Given the description of an element on the screen output the (x, y) to click on. 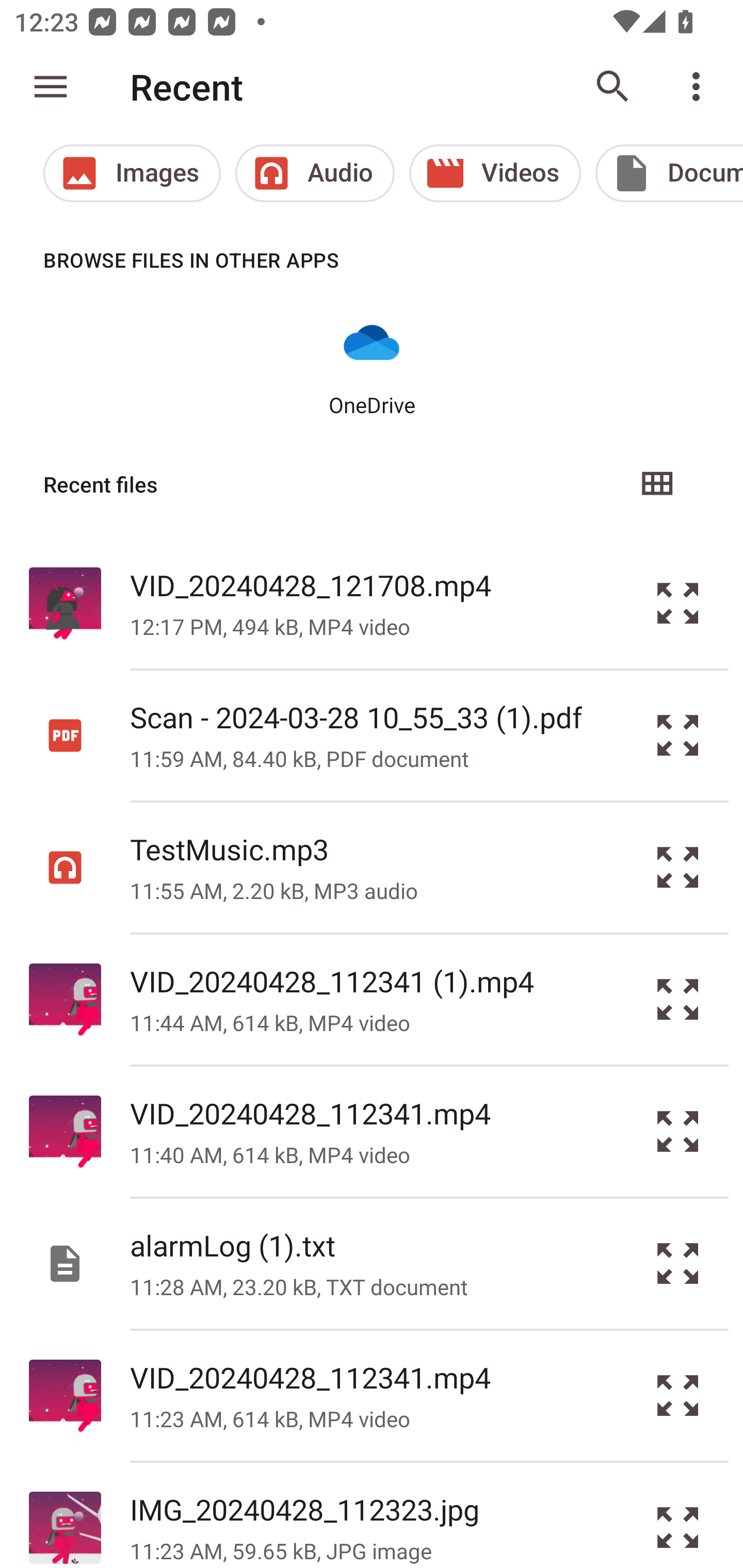
Show roots (50, 86)
Search (612, 86)
More options (699, 86)
Images (131, 173)
Audio (314, 173)
Videos (495, 173)
Documents (669, 173)
OneDrive (371, 365)
Grid view (655, 484)
Preview the file VID_20240428_121708.mp4 (677, 602)
Preview the file TestMusic.mp3 (677, 867)
Preview the file VID_20240428_112341 (1).mp4 (677, 999)
Preview the file VID_20240428_112341.mp4 (677, 1131)
Preview the file alarmLog (1).txt (677, 1262)
Preview the file VID_20240428_112341.mp4 (677, 1396)
Preview the file IMG_20240428_112323.jpg (677, 1515)
